Given the description of an element on the screen output the (x, y) to click on. 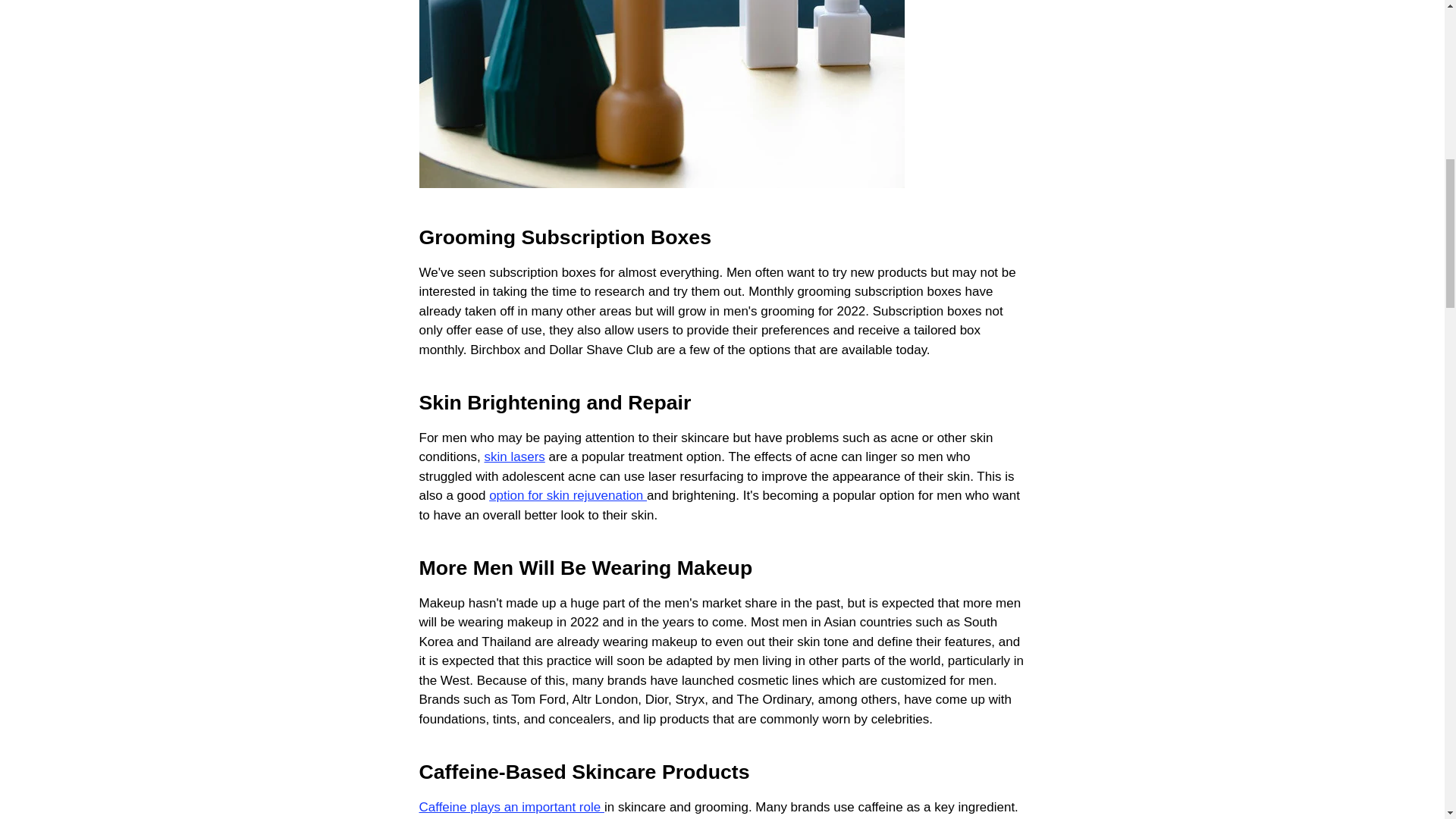
skin lasers (513, 456)
option for skin rejuvenation  (567, 495)
Caffeine plays an important role  (511, 807)
